Given the description of an element on the screen output the (x, y) to click on. 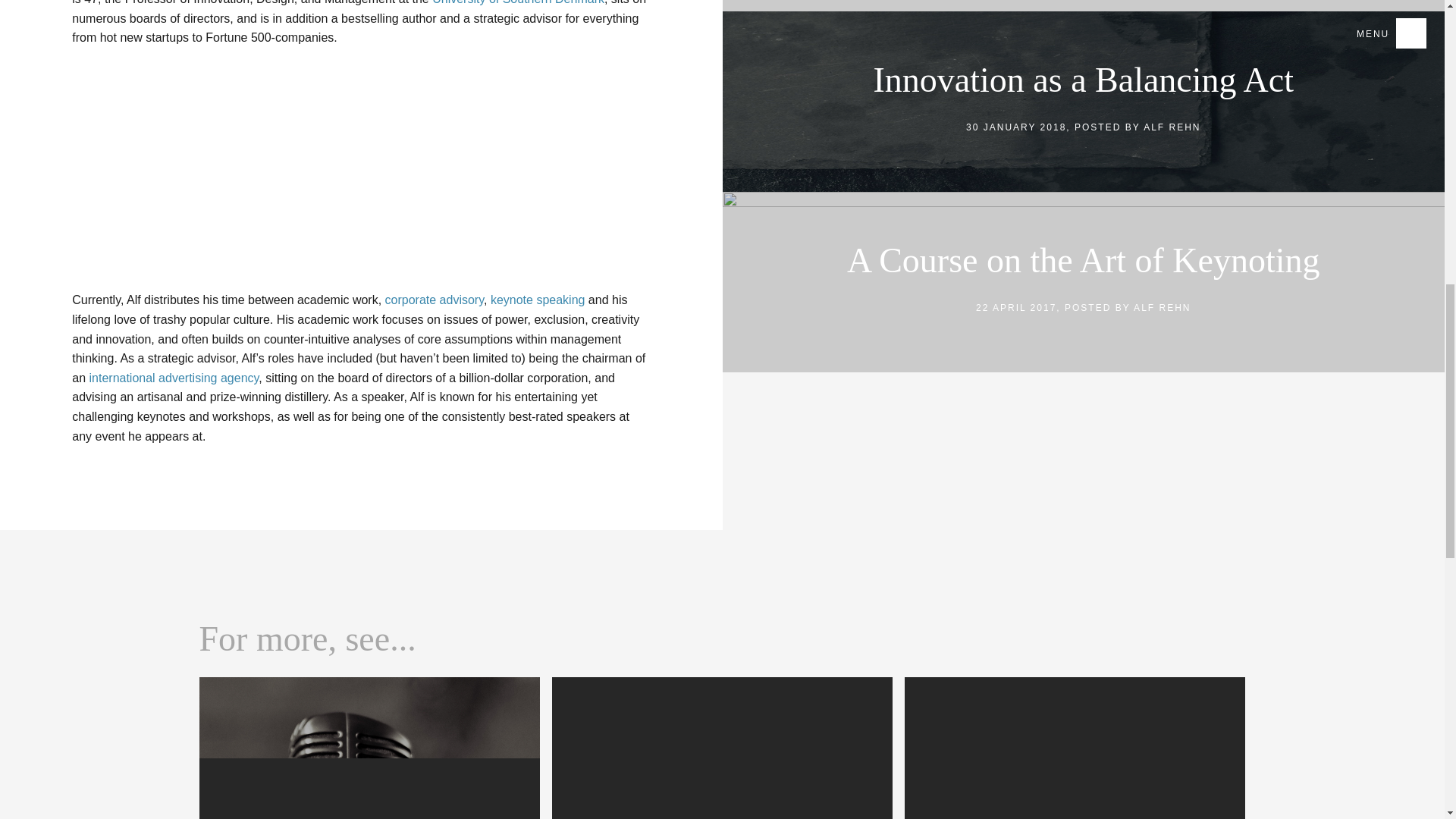
corporate advisory (434, 299)
keynote speaking (537, 299)
international advertising agency (173, 377)
University of Southern Denmark (1074, 748)
